Given the description of an element on the screen output the (x, y) to click on. 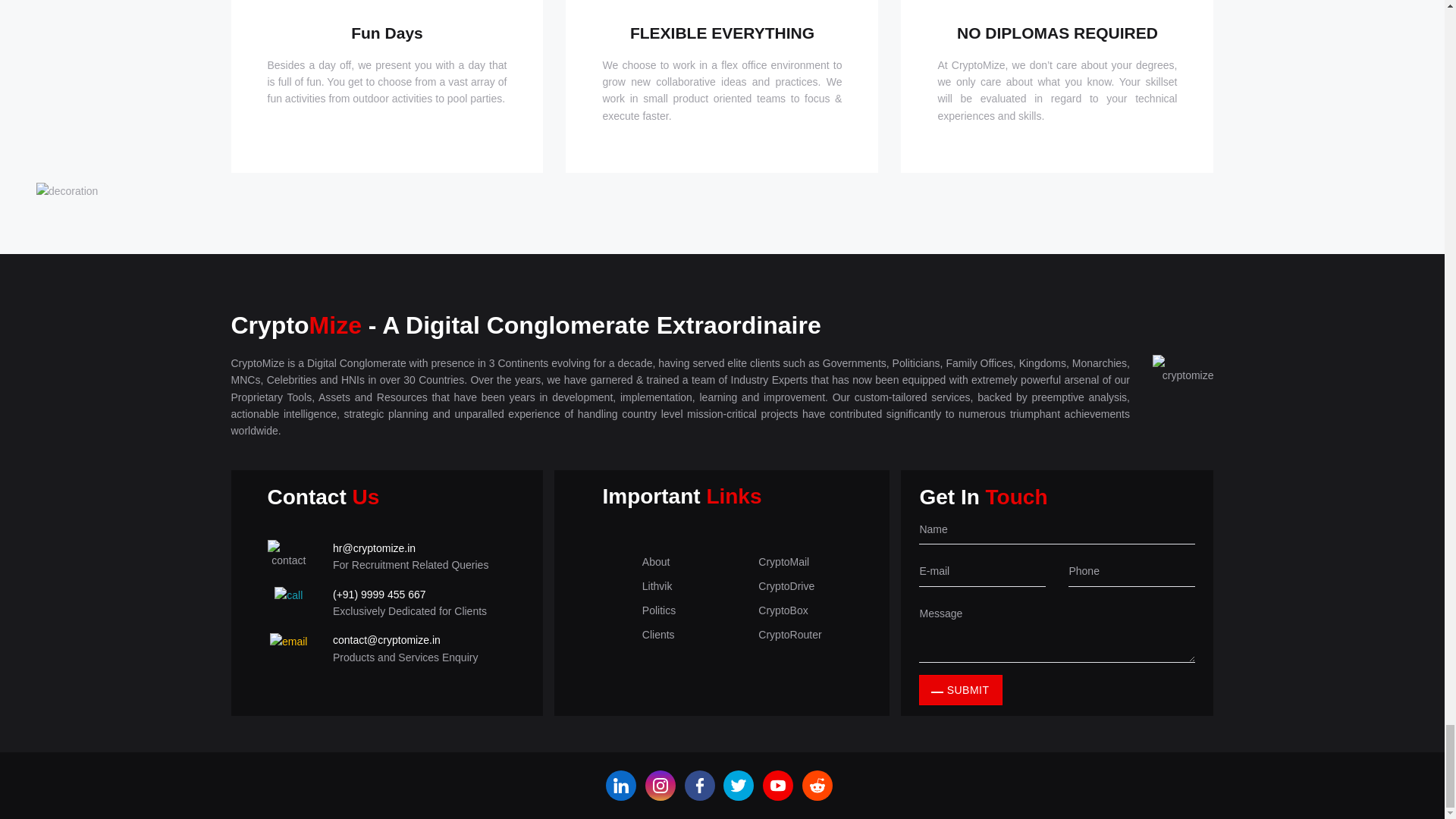
Twiiter (738, 785)
Facebook (699, 785)
Reddit (817, 785)
Youtube (777, 785)
LinkedIn (620, 785)
Instagram (660, 785)
